Given the description of an element on the screen output the (x, y) to click on. 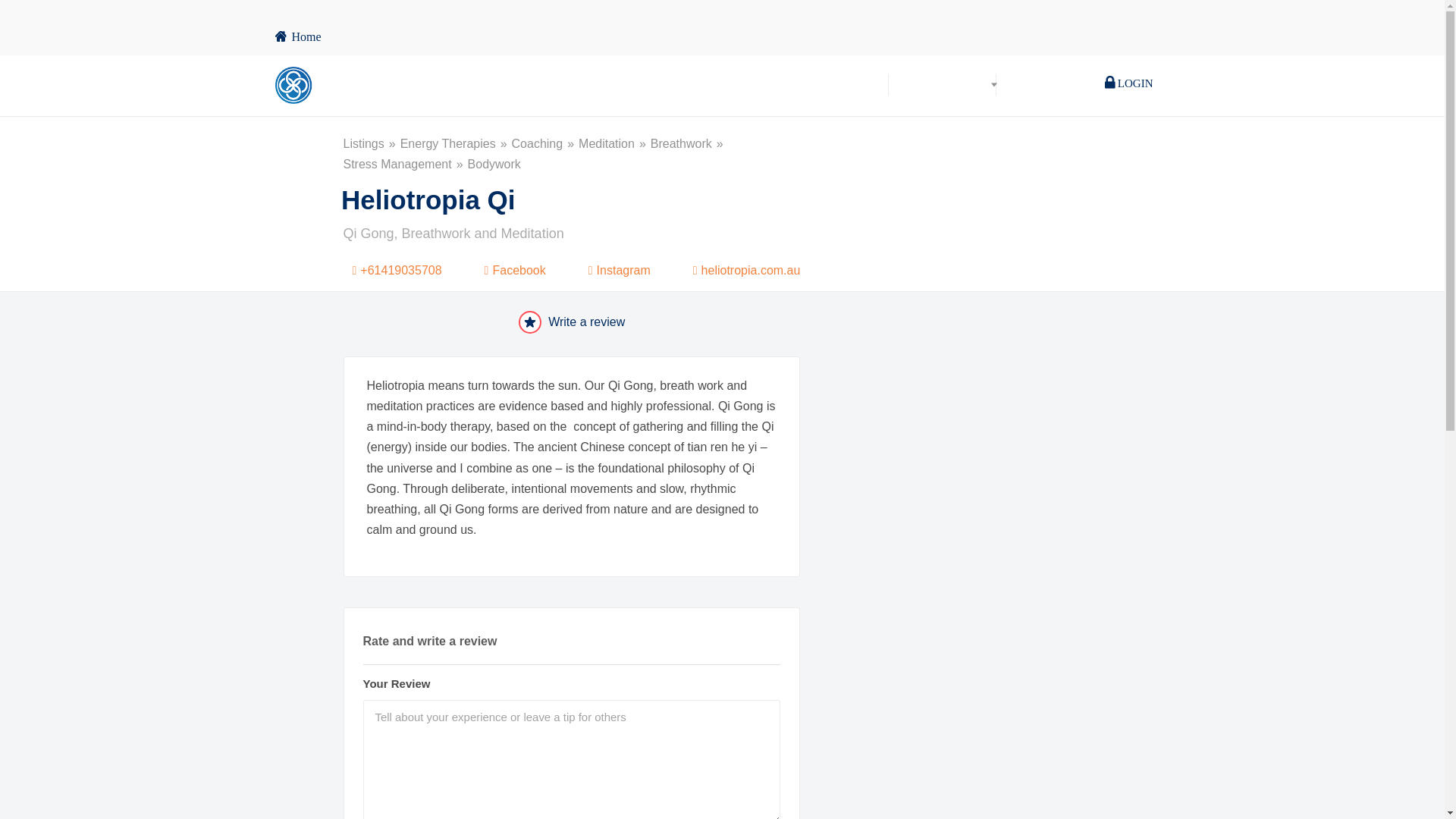
Coaching (545, 143)
Home (861, 84)
Explore Services (941, 84)
Stress Management (404, 163)
Energy Therapies (456, 143)
Meditation (614, 143)
Listings (370, 143)
Bodywork (494, 163)
Home (297, 36)
Breathwork (689, 143)
